Given the description of an element on the screen output the (x, y) to click on. 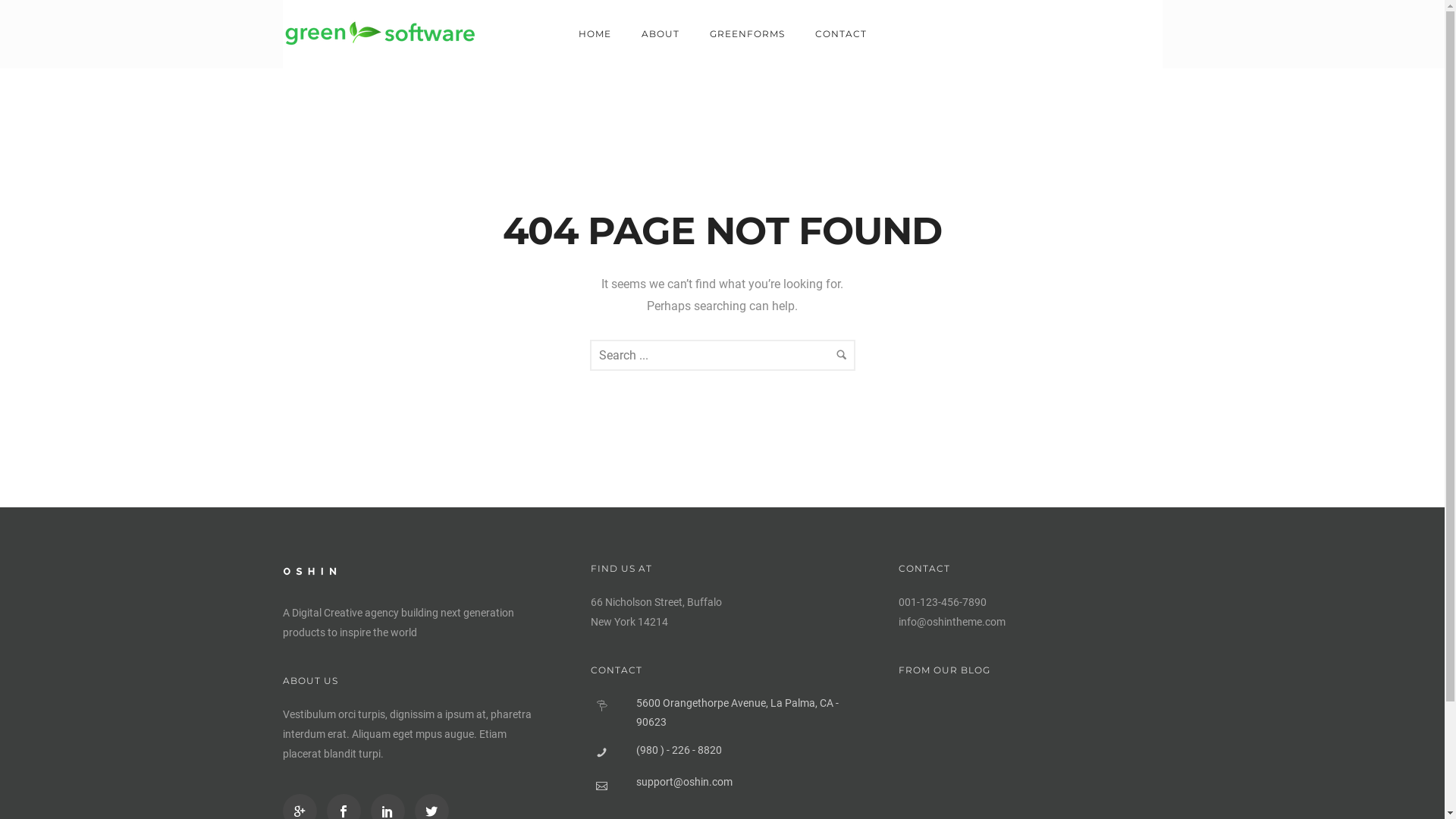
HOME Element type: text (593, 33)
ABOUT Element type: text (660, 33)
CONTACT Element type: text (840, 33)
GREENFORMS Element type: text (747, 33)
